Given the description of an element on the screen output the (x, y) to click on. 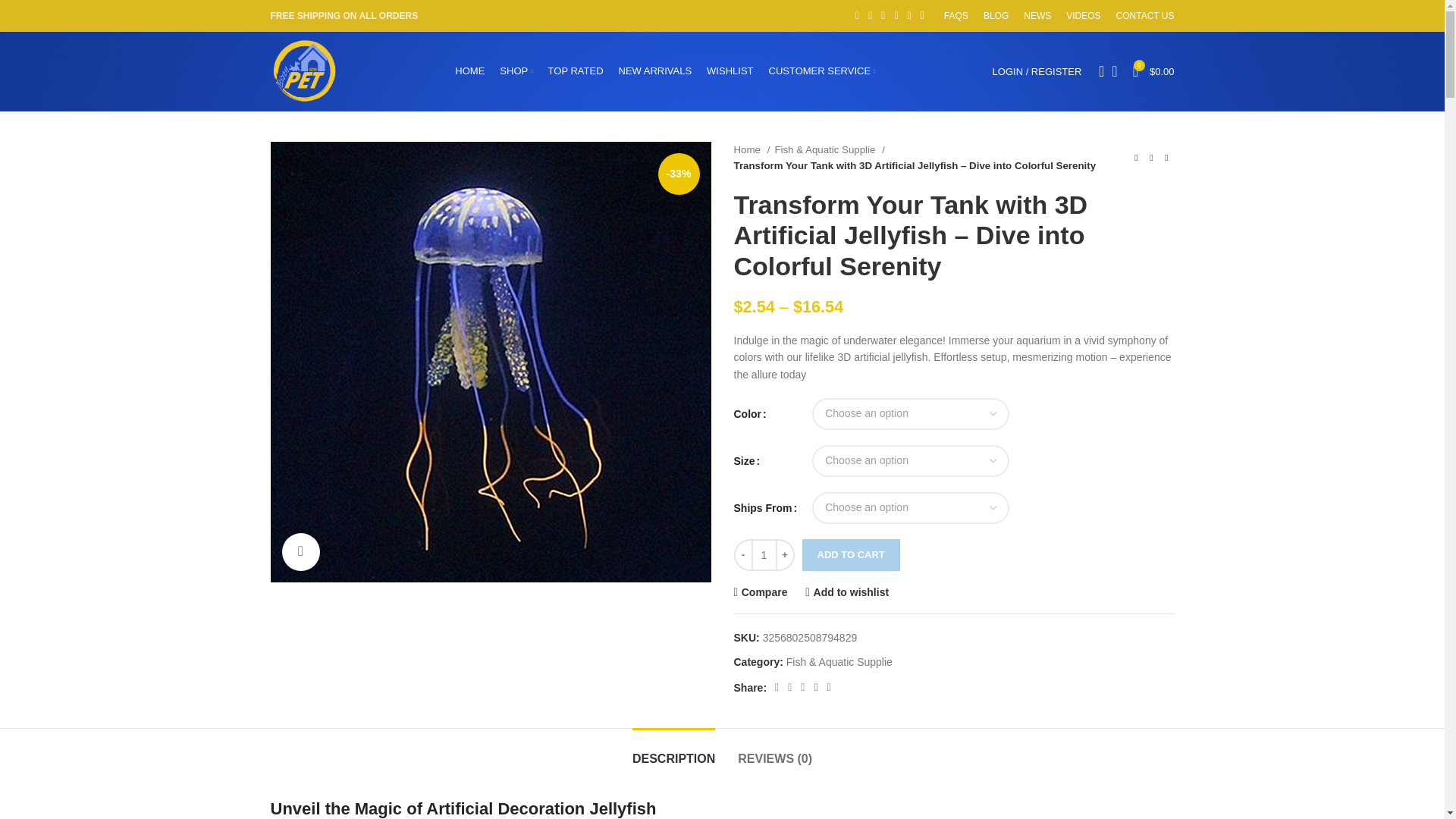
CUSTOMER SERVICE (822, 71)
Shopping cart (1153, 71)
FAQS (955, 15)
1 (763, 554)
NEW ARRIVALS (655, 71)
HOME (469, 71)
Log in (956, 312)
SHOP (515, 71)
- (742, 554)
Search (1096, 71)
BLOG (996, 15)
My Wishlist (1113, 71)
CONTACT US (1145, 15)
My account (1037, 71)
